Given the description of an element on the screen output the (x, y) to click on. 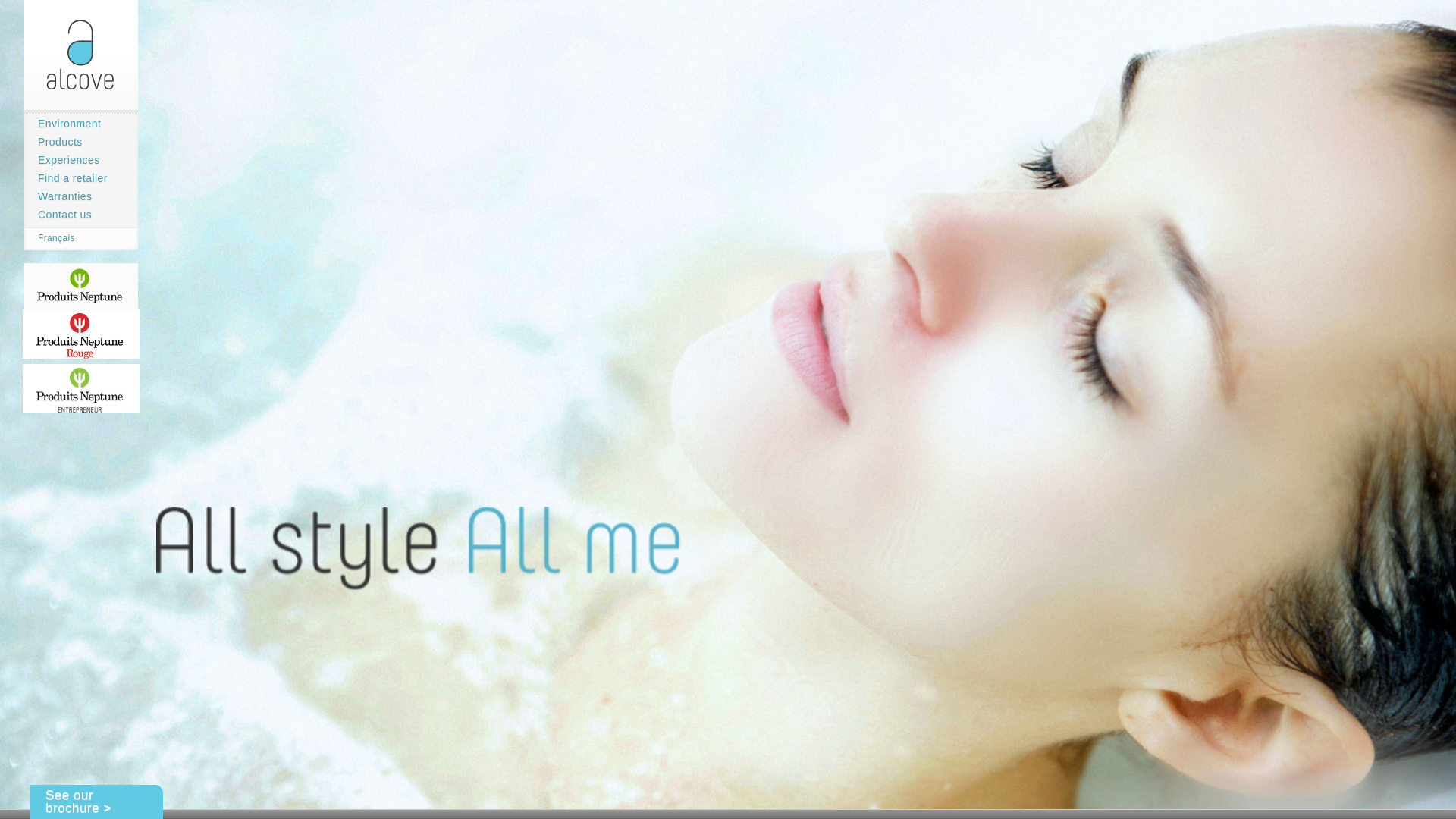
Environment Element type: text (61, 123)
Warranties Element type: text (56, 196)
Contact us Element type: text (56, 214)
Products Element type: text (52, 141)
Experiences Element type: text (61, 159)
Find a retailer Element type: text (64, 178)
